Given the description of an element on the screen output the (x, y) to click on. 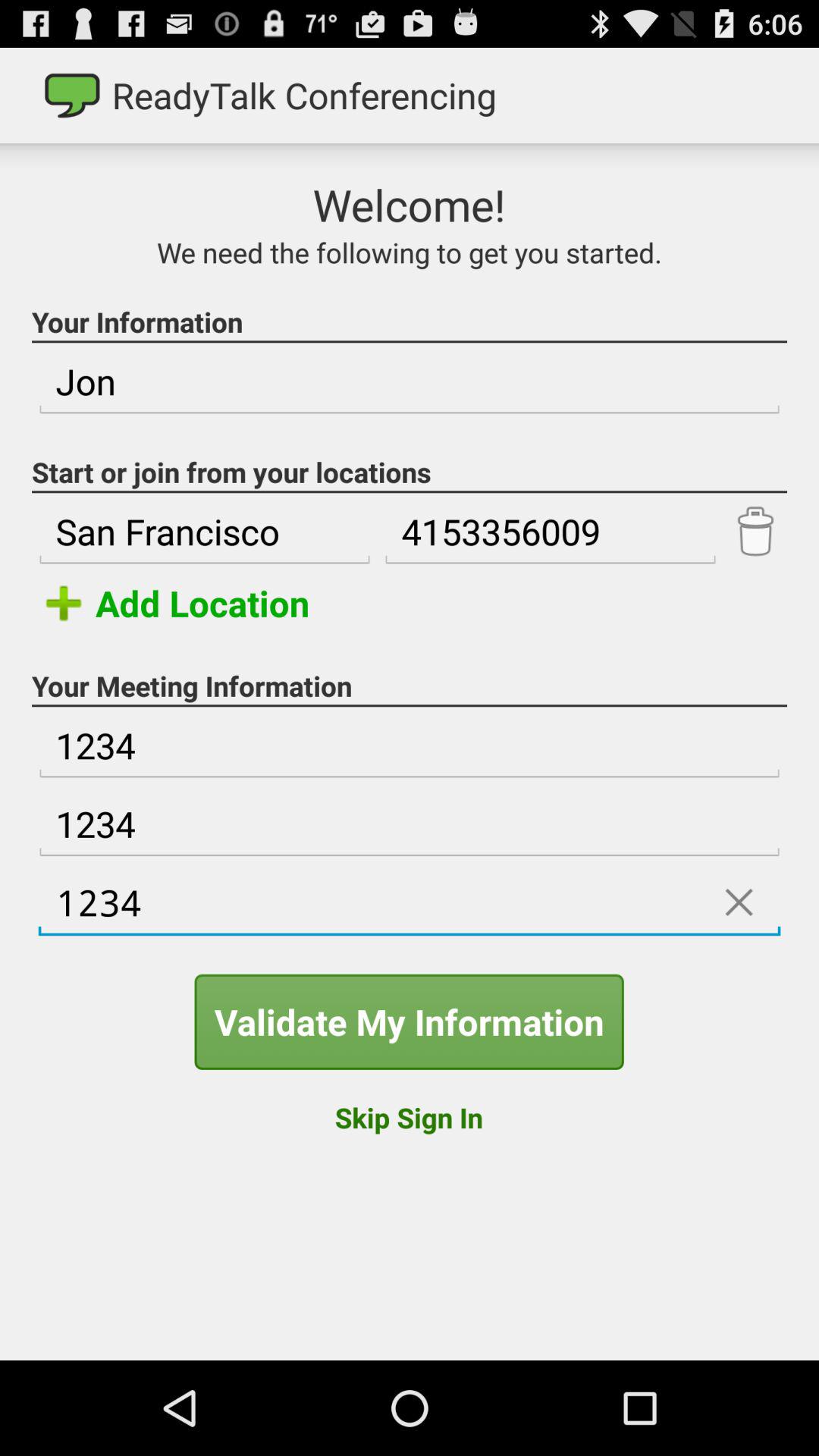
scroll to validate my information button (408, 1021)
